Given the description of an element on the screen output the (x, y) to click on. 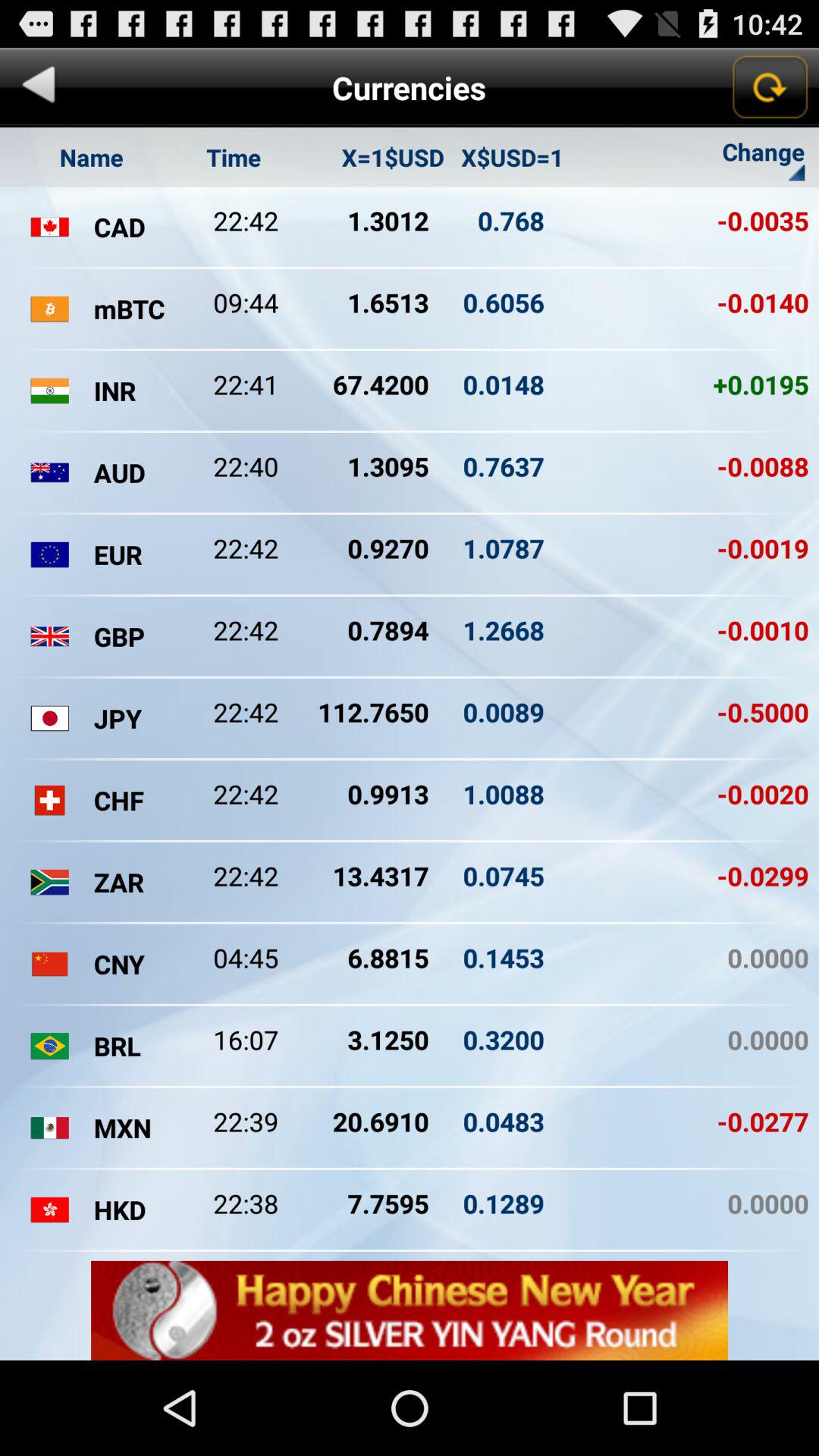
refresh (769, 87)
